Given the description of an element on the screen output the (x, y) to click on. 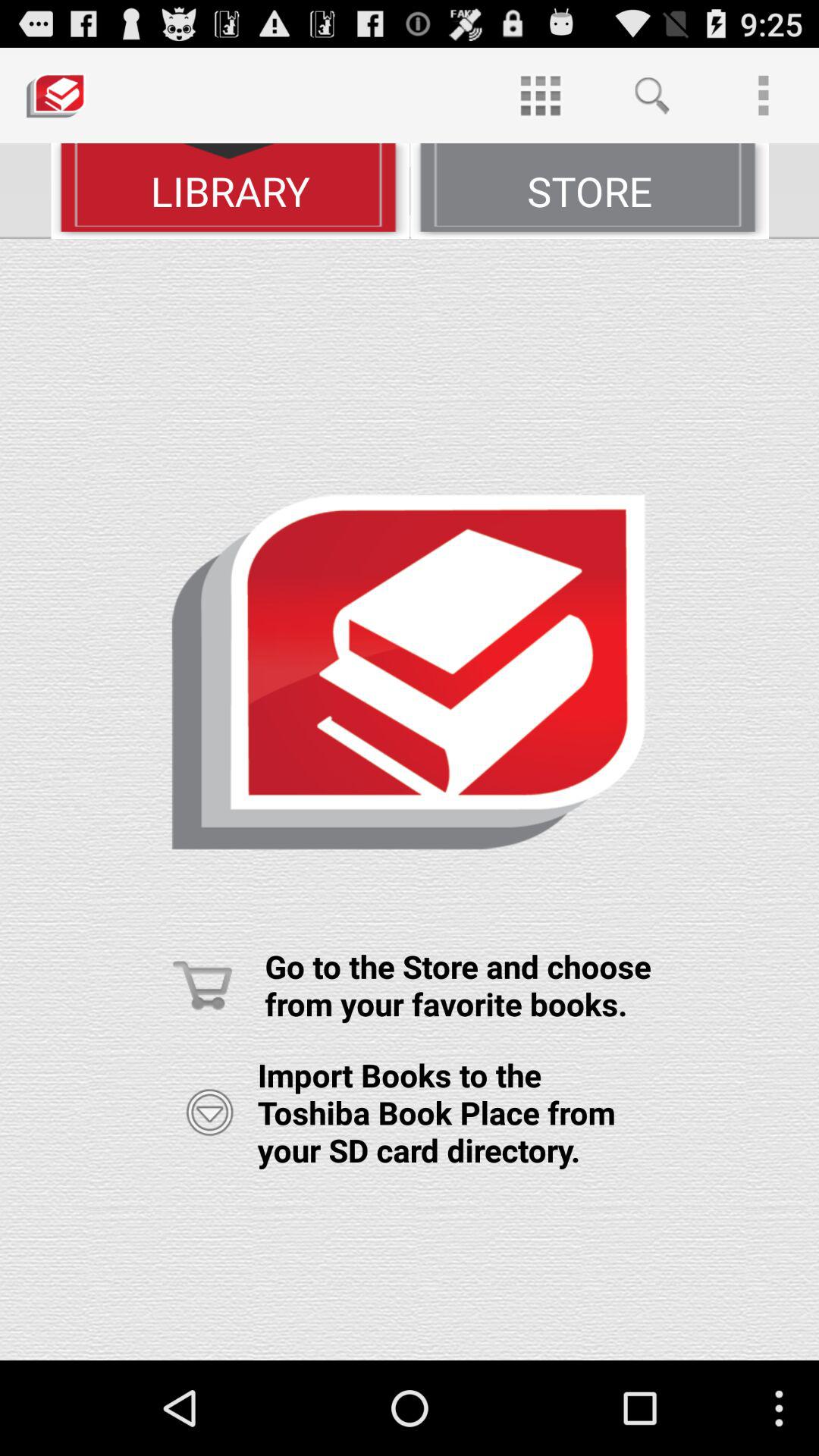
import your books from sd card (209, 1112)
